Given the description of an element on the screen output the (x, y) to click on. 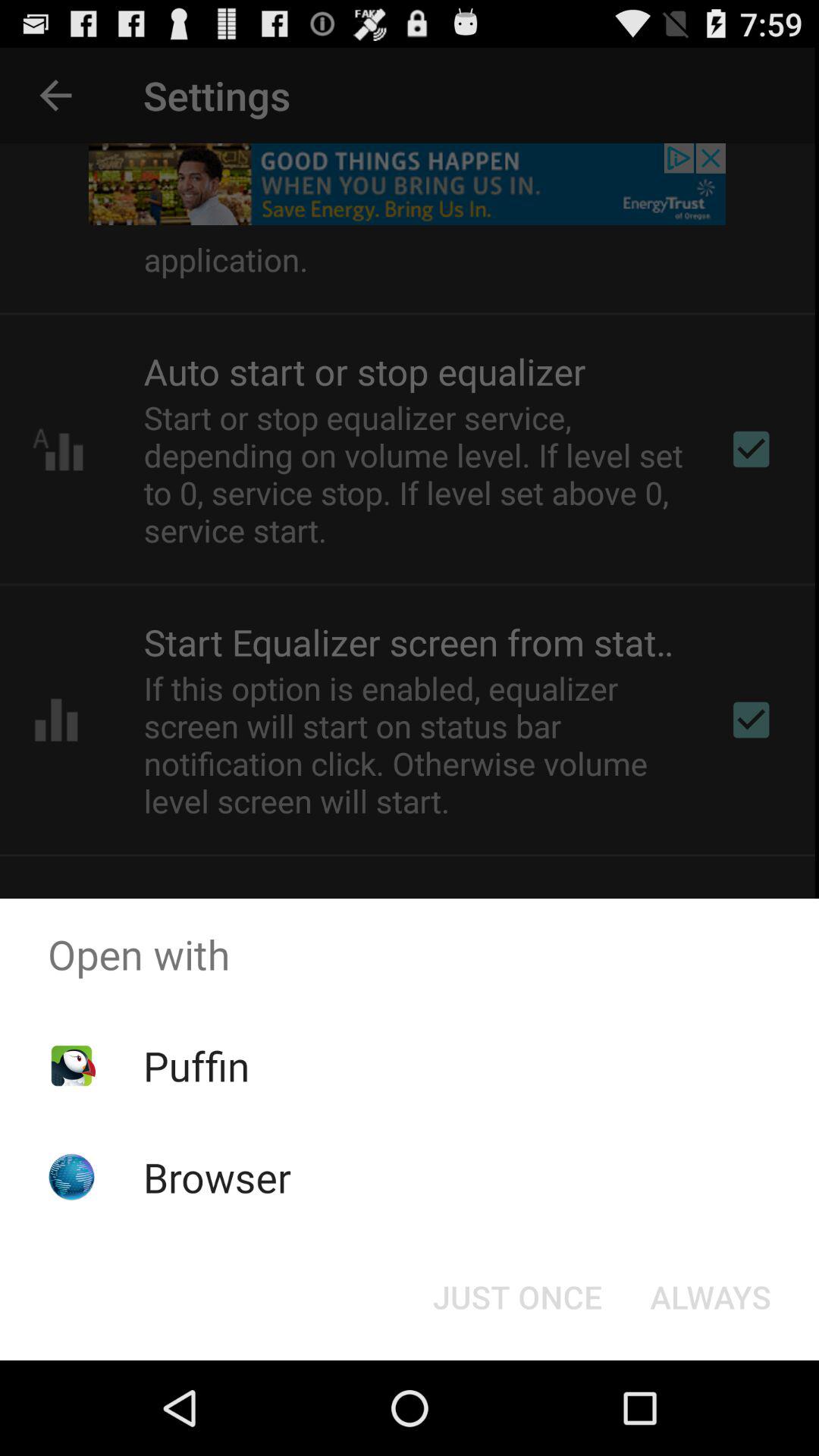
turn on item to the right of just once item (710, 1296)
